Given the description of an element on the screen output the (x, y) to click on. 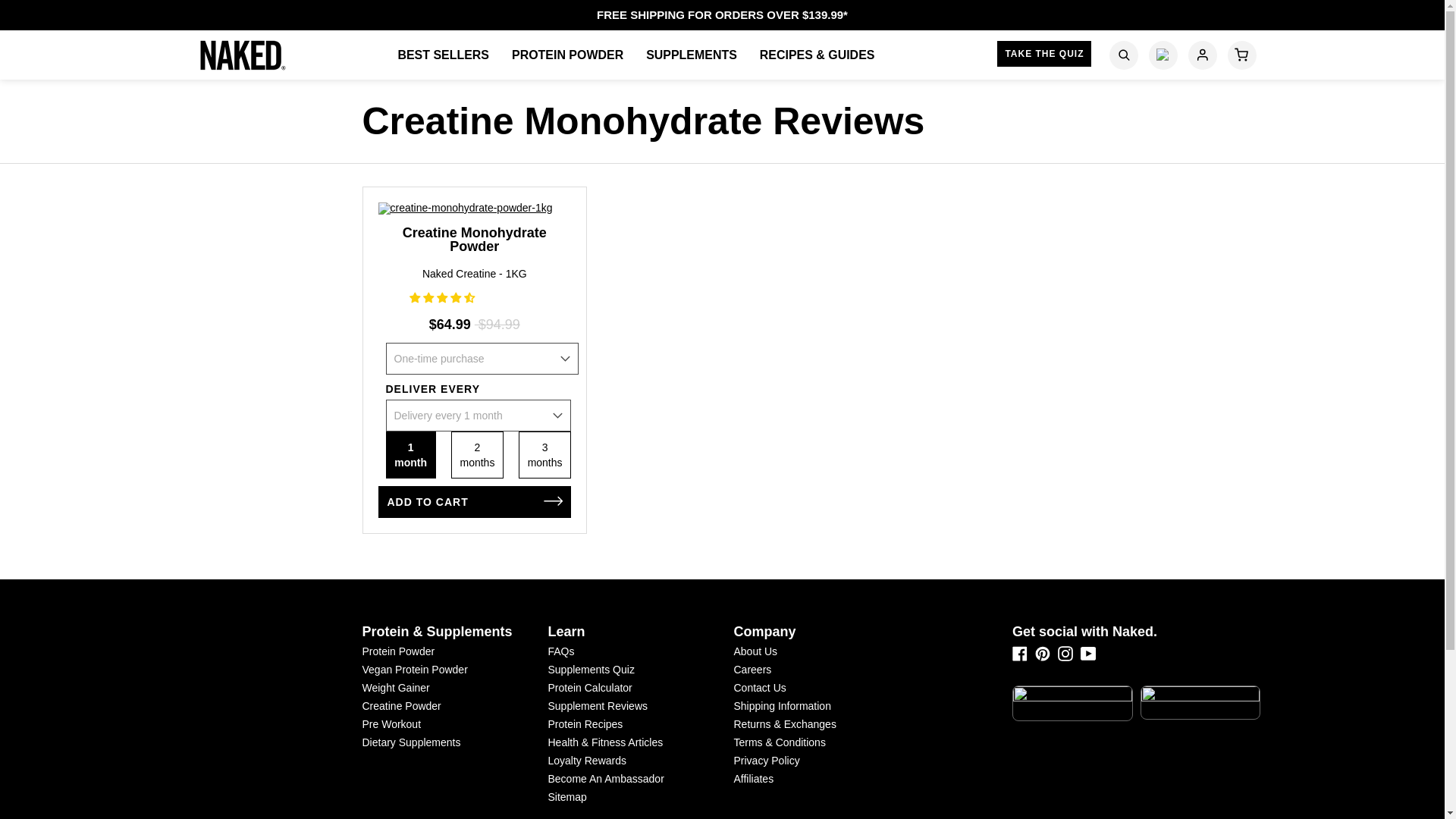
BEST SELLERS (442, 54)
Naked Nutrition Canada on Instagram (1065, 653)
Select Purchase Type (481, 358)
Naked Nutrition Canada on YouTube (1088, 657)
PROTEIN POWDER (567, 54)
Naked Nutrition Canada on Facebook (1019, 653)
Naked Nutrition Canada on Facebook (1019, 657)
Naked Nutrition Canada on YouTube (1088, 653)
SUPPLEMENTS (691, 54)
